Given the description of an element on the screen output the (x, y) to click on. 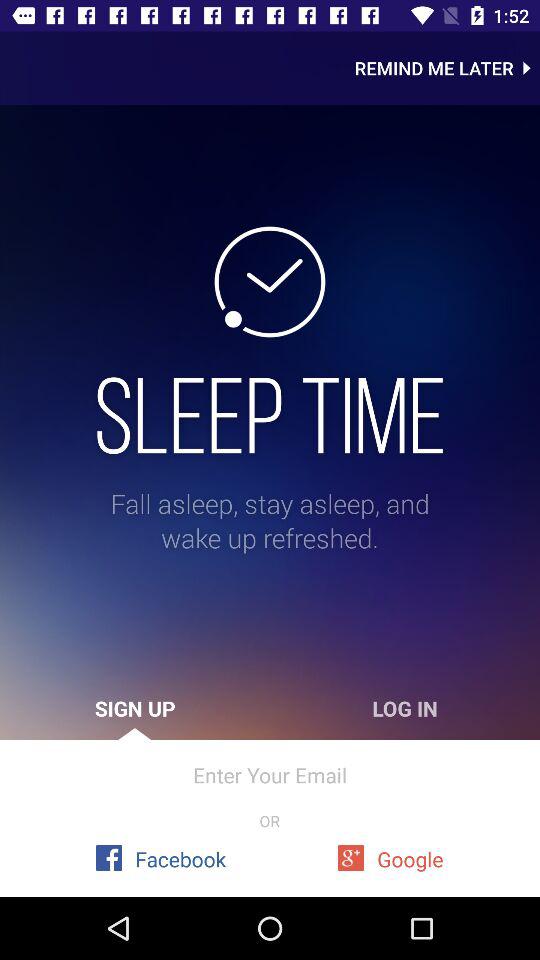
tap item below the fall asleep stay (405, 707)
